Given the description of an element on the screen output the (x, y) to click on. 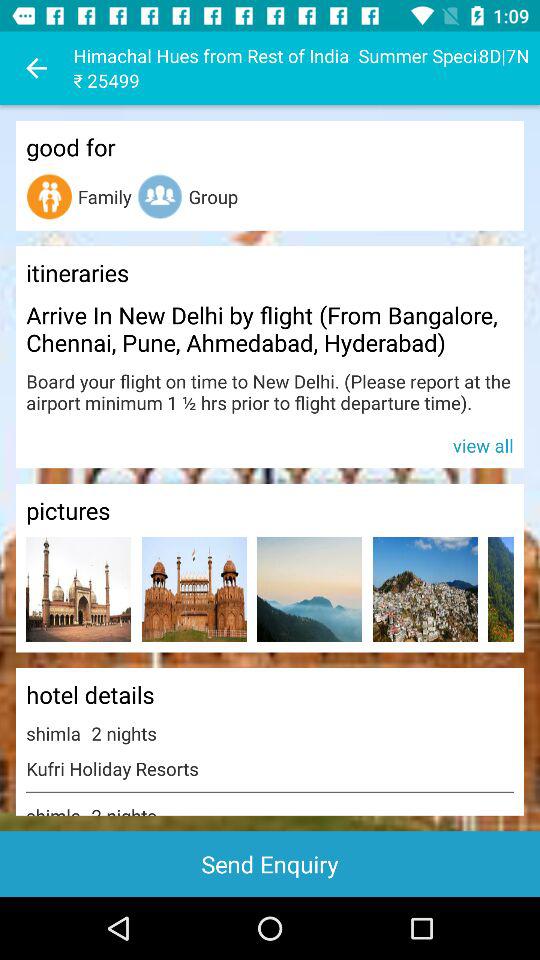
select the item next to himachal hues from item (36, 68)
